Given the description of an element on the screen output the (x, y) to click on. 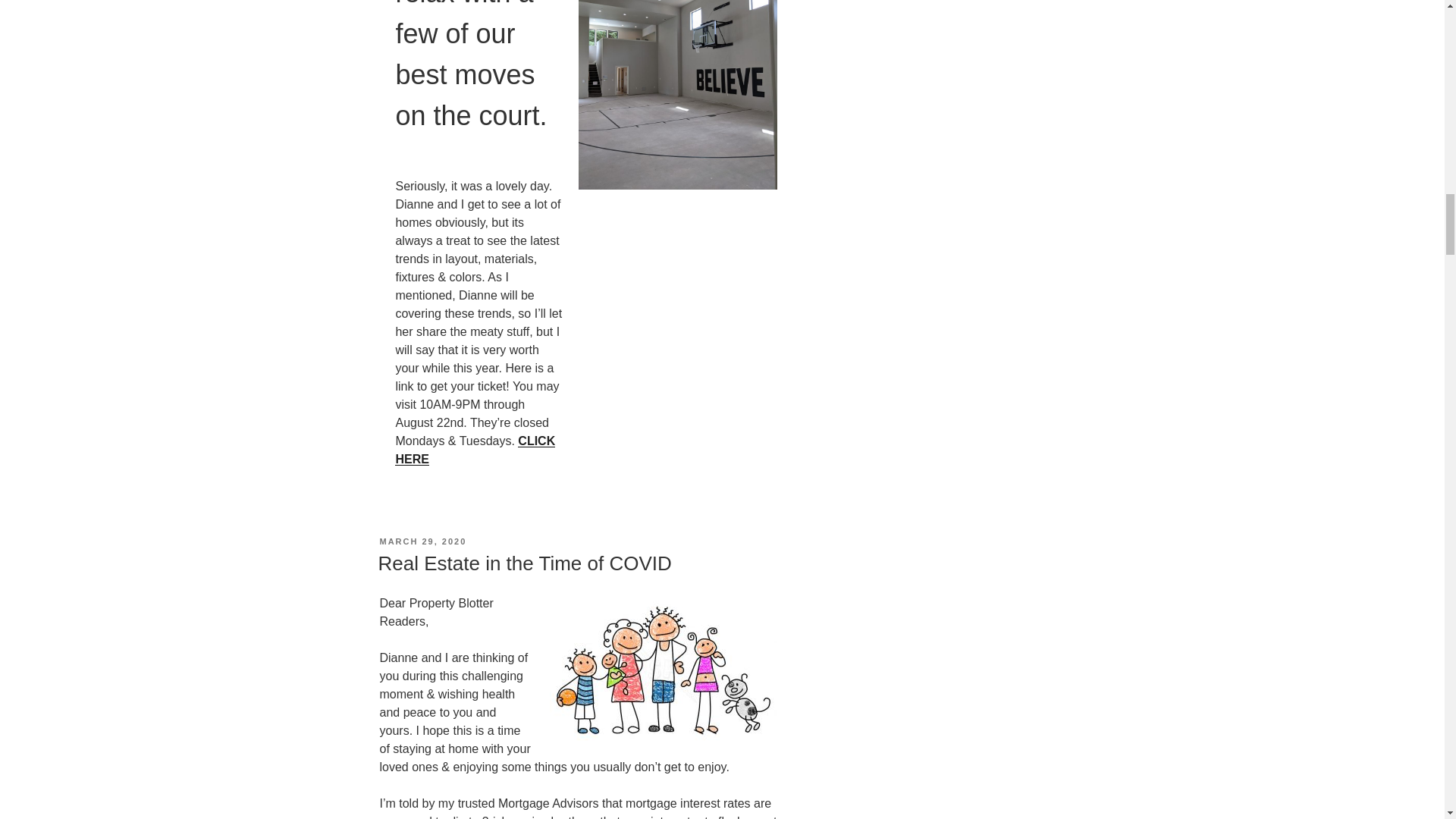
CLICK HERE (474, 450)
Real Estate in the Time of COVID (524, 563)
MARCH 29, 2020 (421, 541)
